Given the description of an element on the screen output the (x, y) to click on. 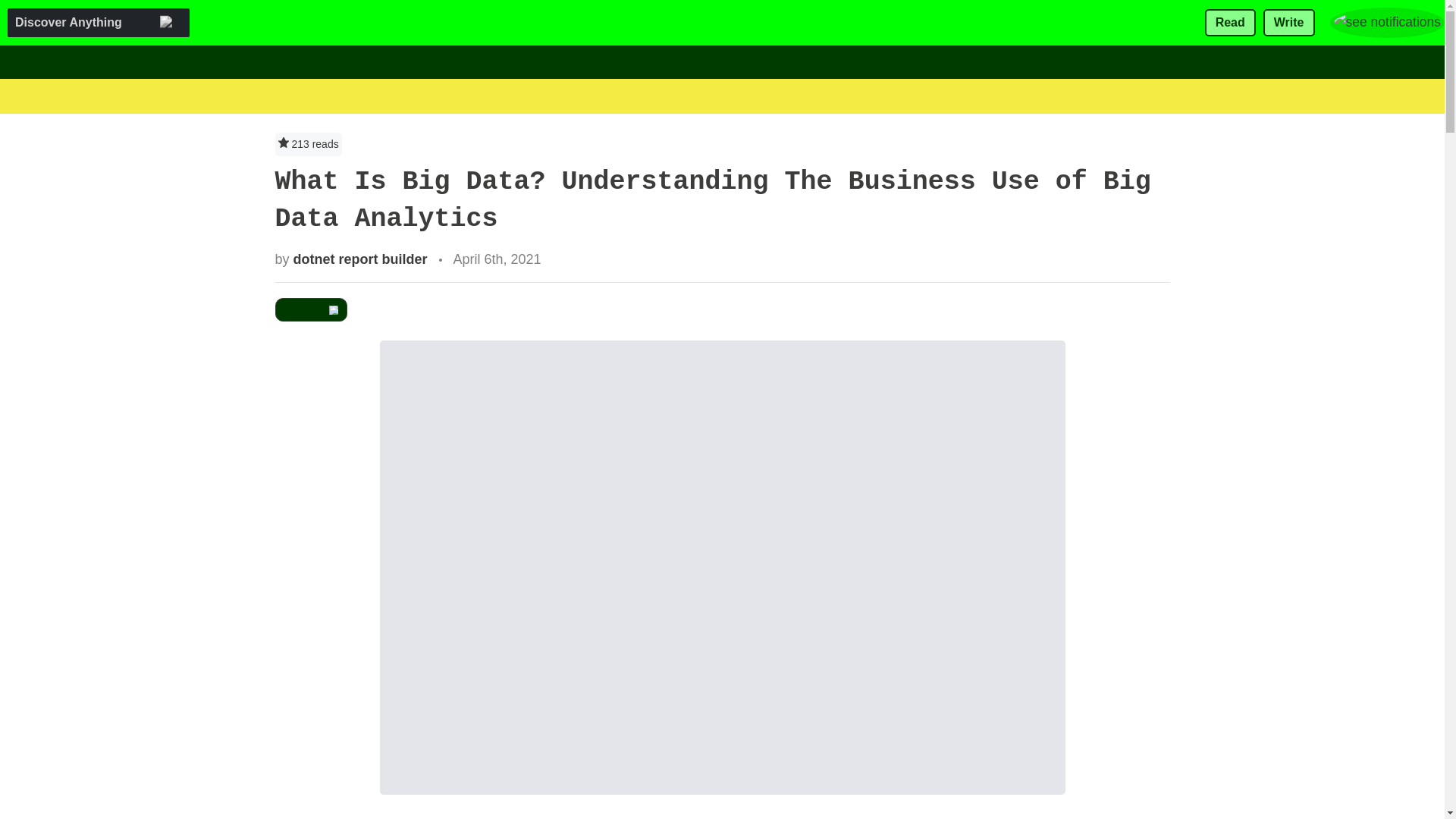
Read (1230, 22)
Write (1288, 22)
dotnet report builder (361, 258)
